Given the description of an element on the screen output the (x, y) to click on. 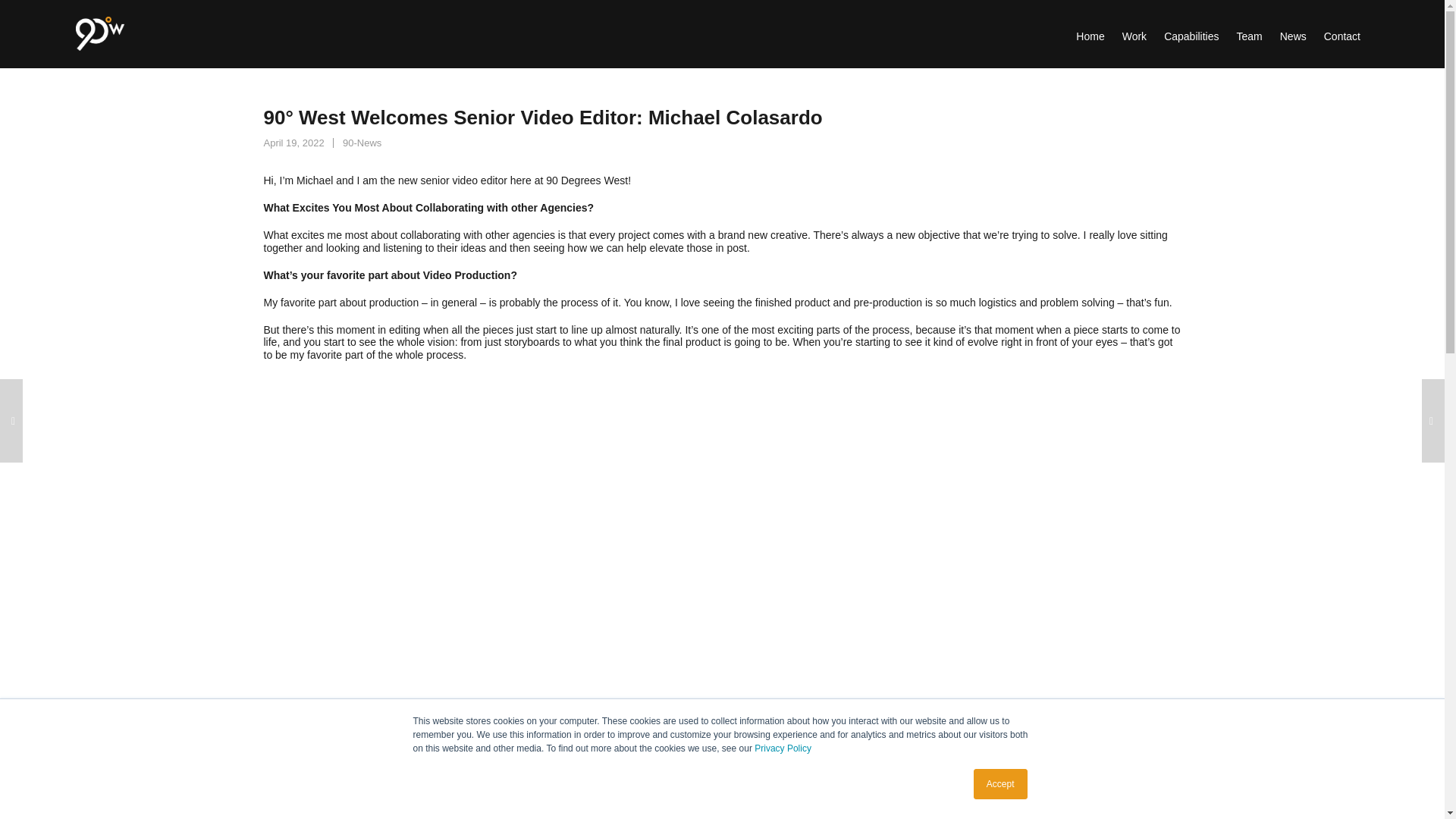
Contact (1342, 33)
OLDER (11, 420)
Home (1089, 33)
Work (1133, 33)
Privacy Policy (782, 747)
Inspirational and Engaging Videos (11, 420)
News (1292, 33)
Capabilities (1191, 33)
90-News (361, 142)
Accept (1000, 784)
Team (1249, 33)
